Given the description of an element on the screen output the (x, y) to click on. 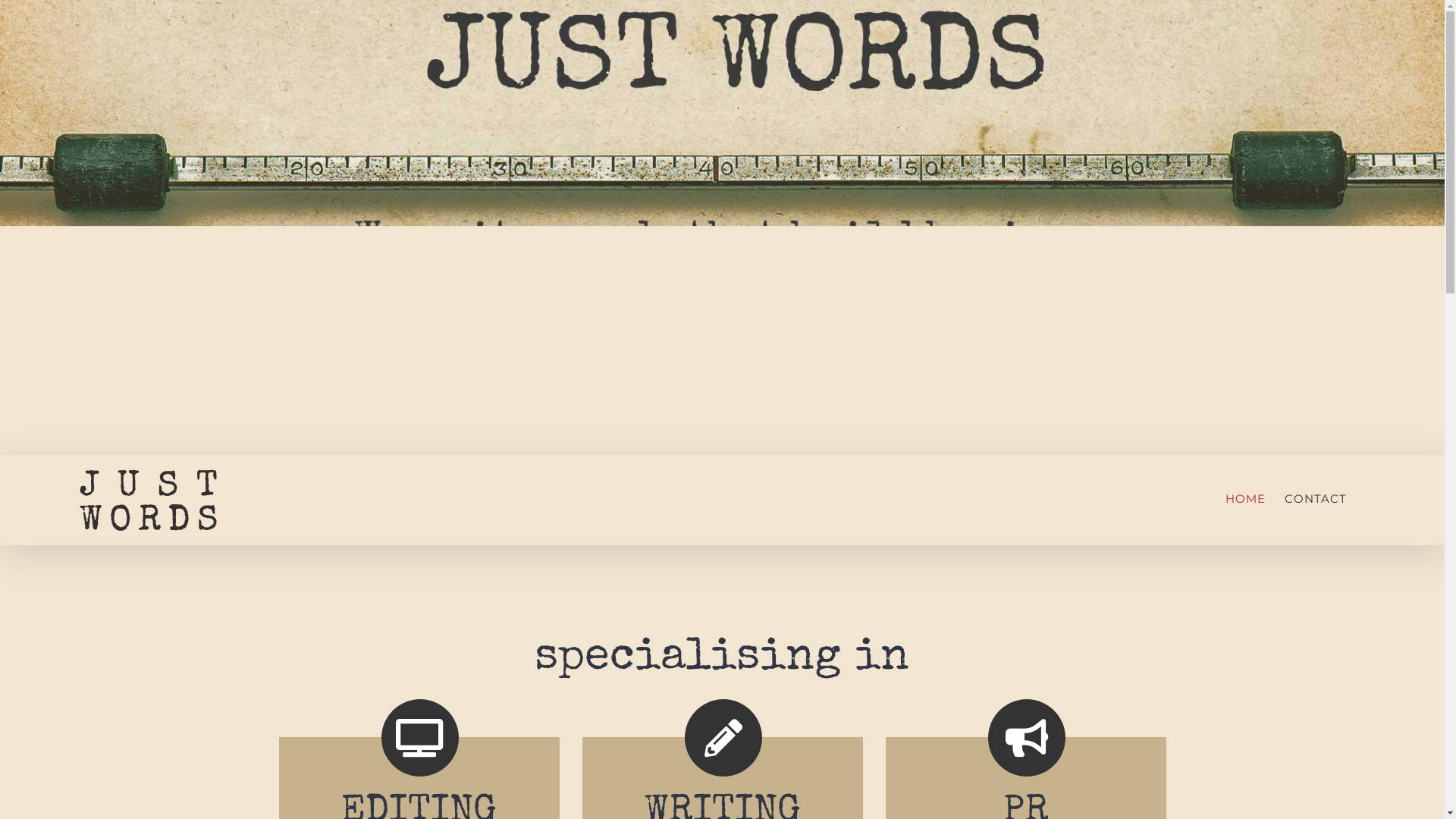
HOME Element type: text (1245, 497)
CONTACT Element type: text (1315, 497)
